Given the description of an element on the screen output the (x, y) to click on. 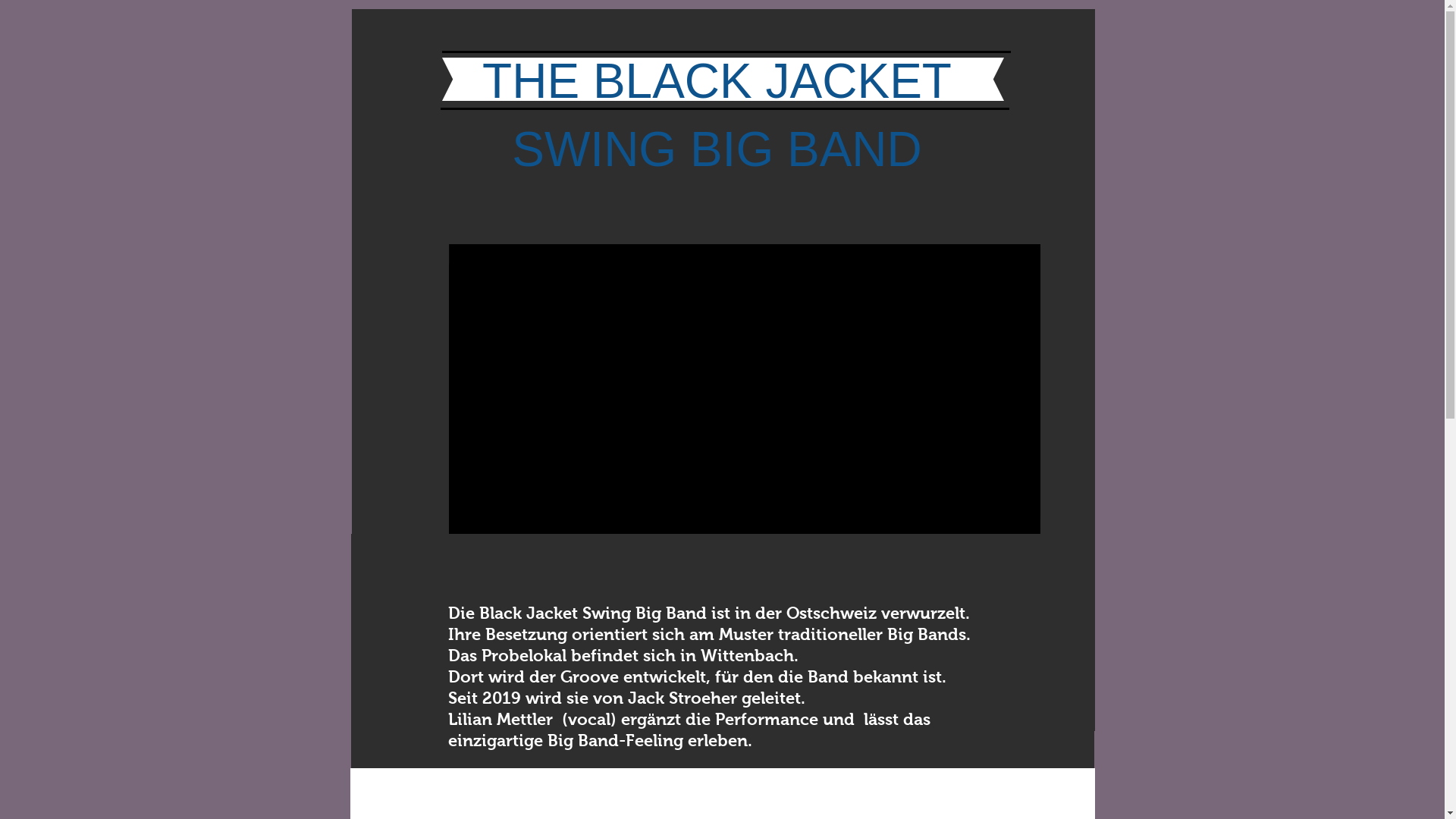
THE BLACK JACKET SWING BIG BAND Element type: text (716, 114)
